Given the description of an element on the screen output the (x, y) to click on. 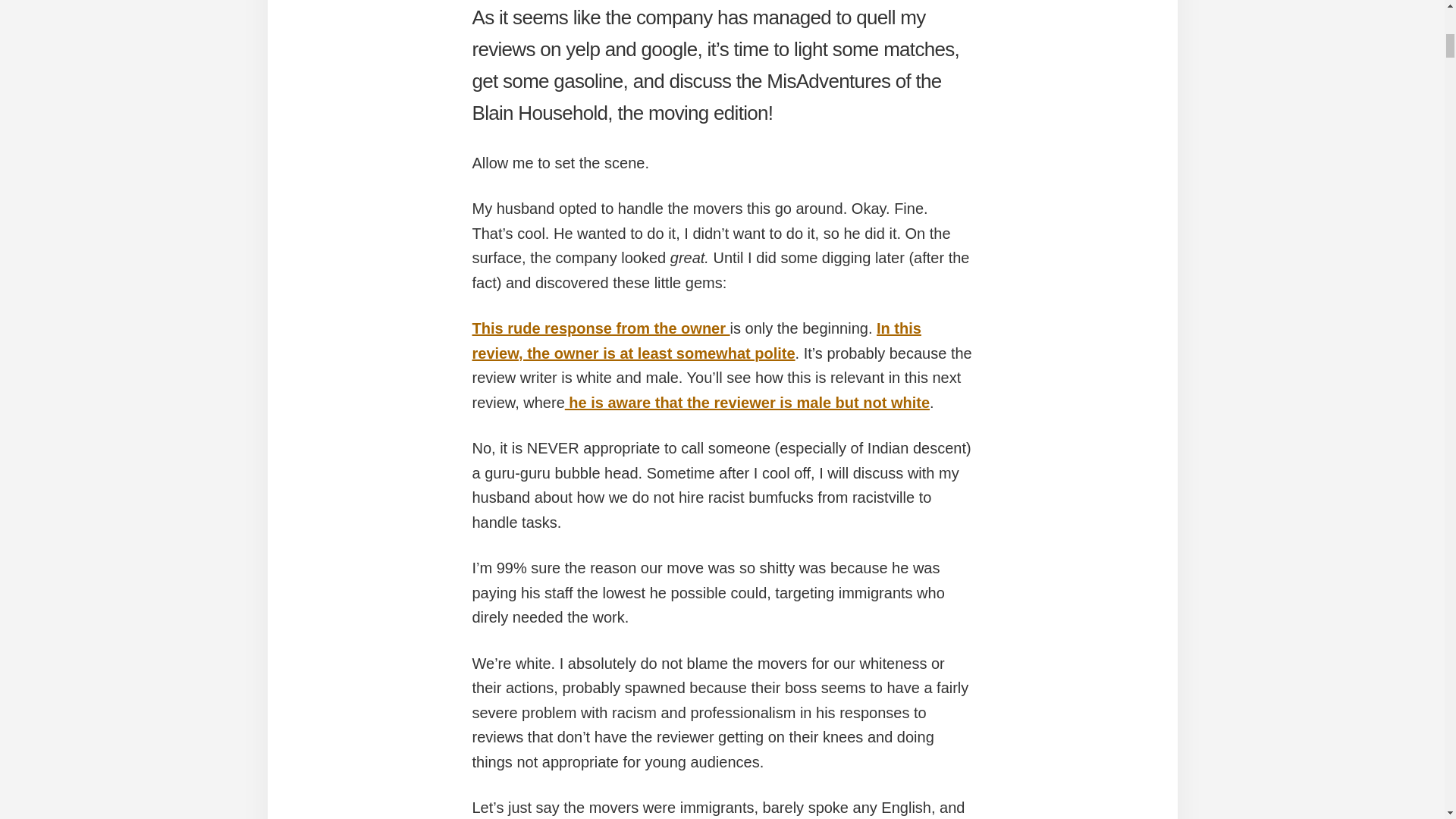
In this review, the owner is at least somewhat polite (695, 340)
This rude response from the owner (600, 328)
he is aware that the reviewer is male but not white (747, 402)
